Given the description of an element on the screen output the (x, y) to click on. 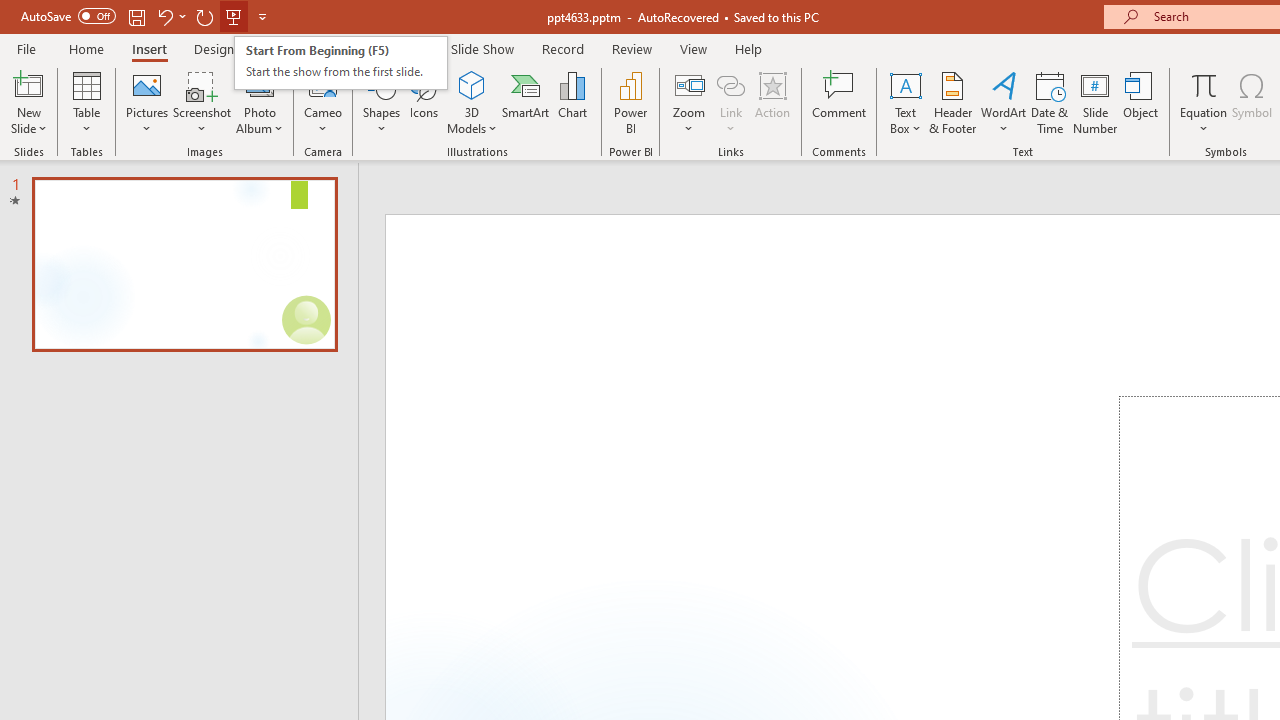
Header & Footer... (952, 102)
Link (731, 84)
Icons (424, 102)
Table (86, 102)
3D Models (472, 84)
Equation (1203, 84)
